Given the description of an element on the screen output the (x, y) to click on. 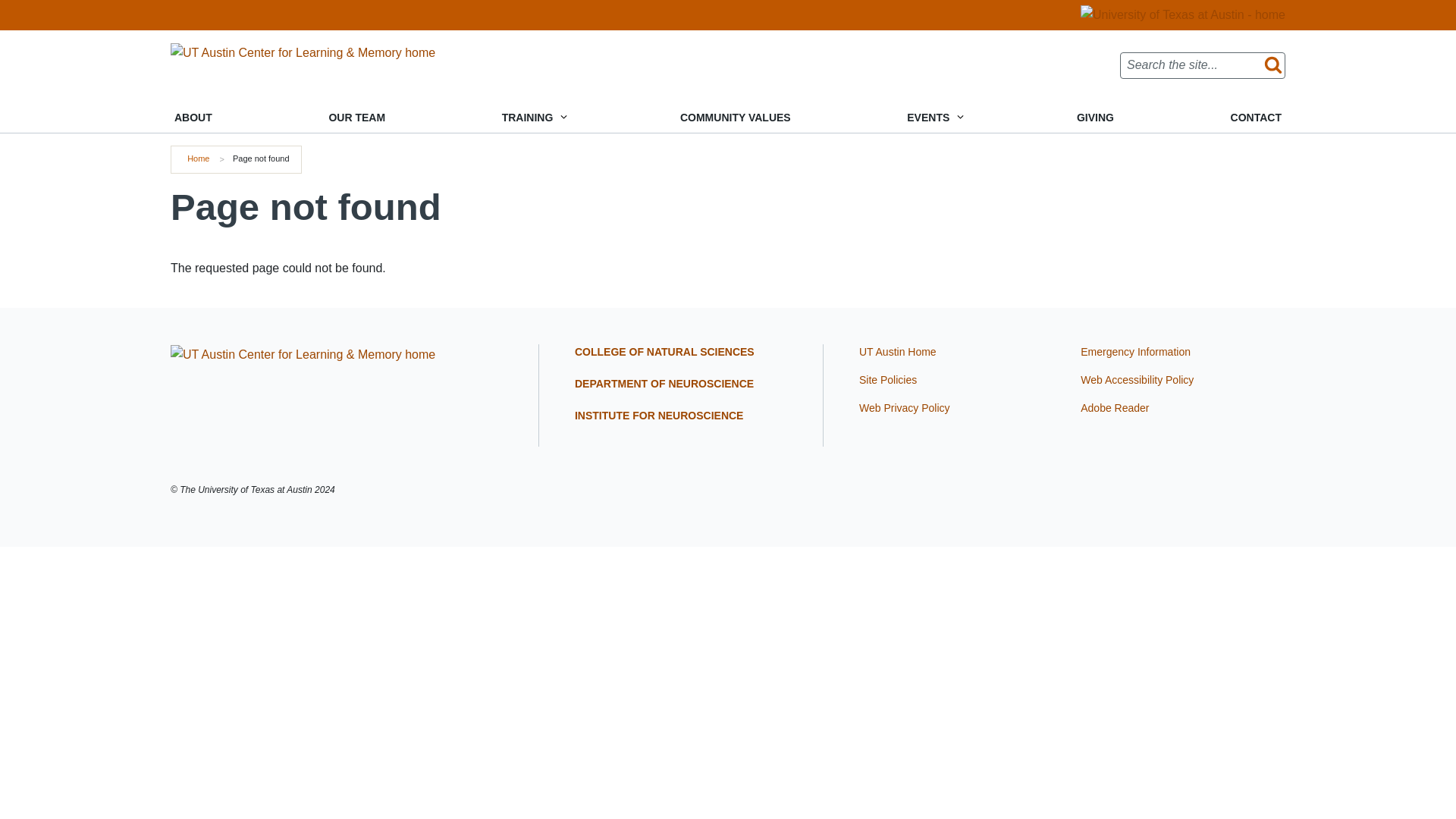
Web Accessibility Policy (1136, 379)
Home (302, 353)
ABOUT (193, 118)
GIVING (1095, 118)
CONTACT (1256, 118)
DEPARTMENT OF NEUROSCIENCE (664, 383)
Home (198, 157)
UT Austin Home (897, 351)
Emergency Information (1135, 351)
COLLEGE OF NATURAL SCIENCES (664, 351)
Home (302, 51)
OUR TEAM (356, 118)
INSTITUTE FOR NEUROSCIENCE (658, 415)
Web Privacy Policy (904, 408)
Search (1270, 64)
